Given the description of an element on the screen output the (x, y) to click on. 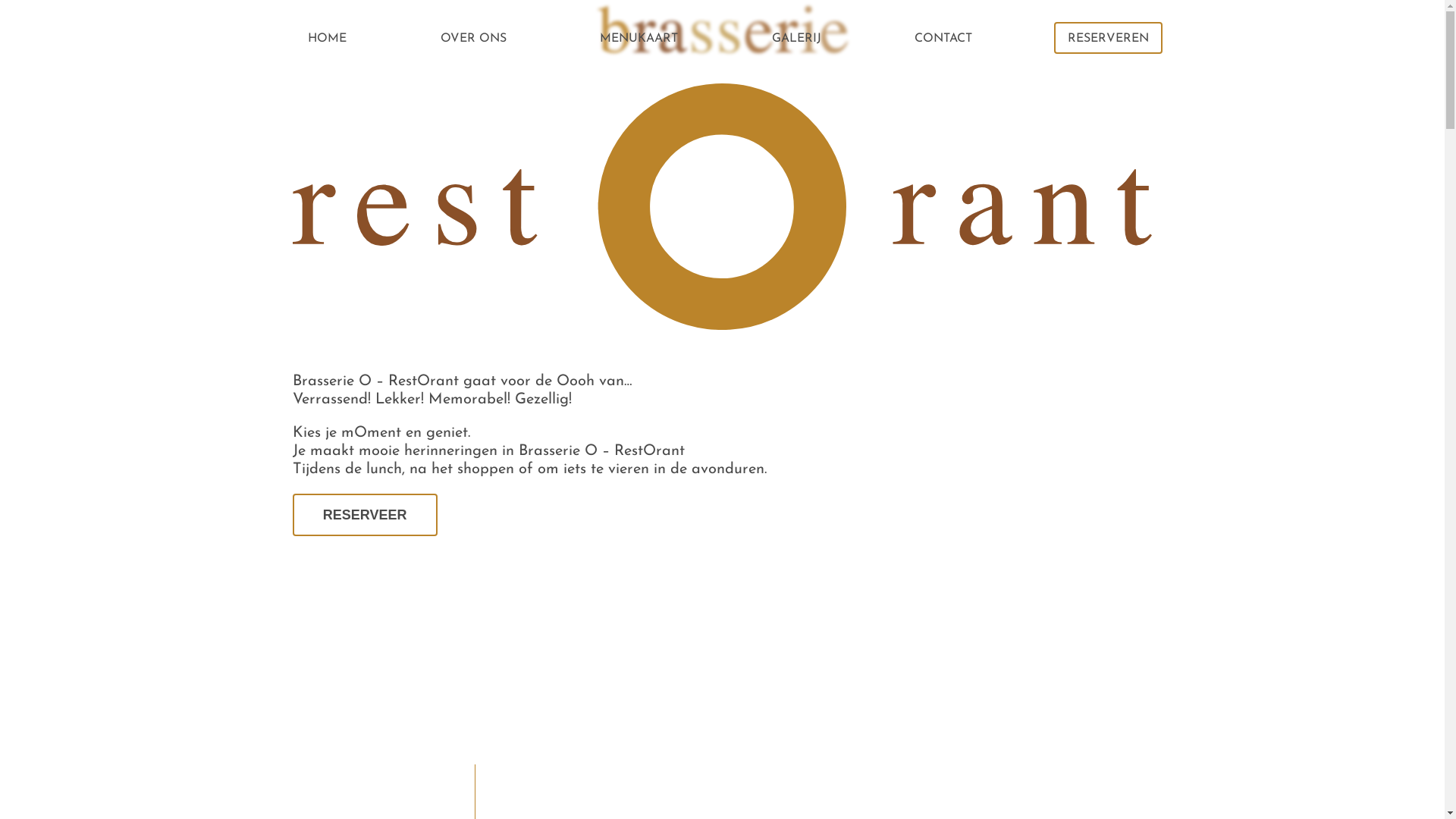
GALERIJ Element type: text (796, 37)
OVER ONS Element type: text (473, 37)
MENUKAART Element type: text (638, 37)
RESERVEREN Element type: text (1108, 37)
CONTACT Element type: text (943, 37)
HOME Element type: text (326, 37)
RESERVEER Element type: text (364, 514)
RESERVEER Element type: text (364, 514)
